Given the description of an element on the screen output the (x, y) to click on. 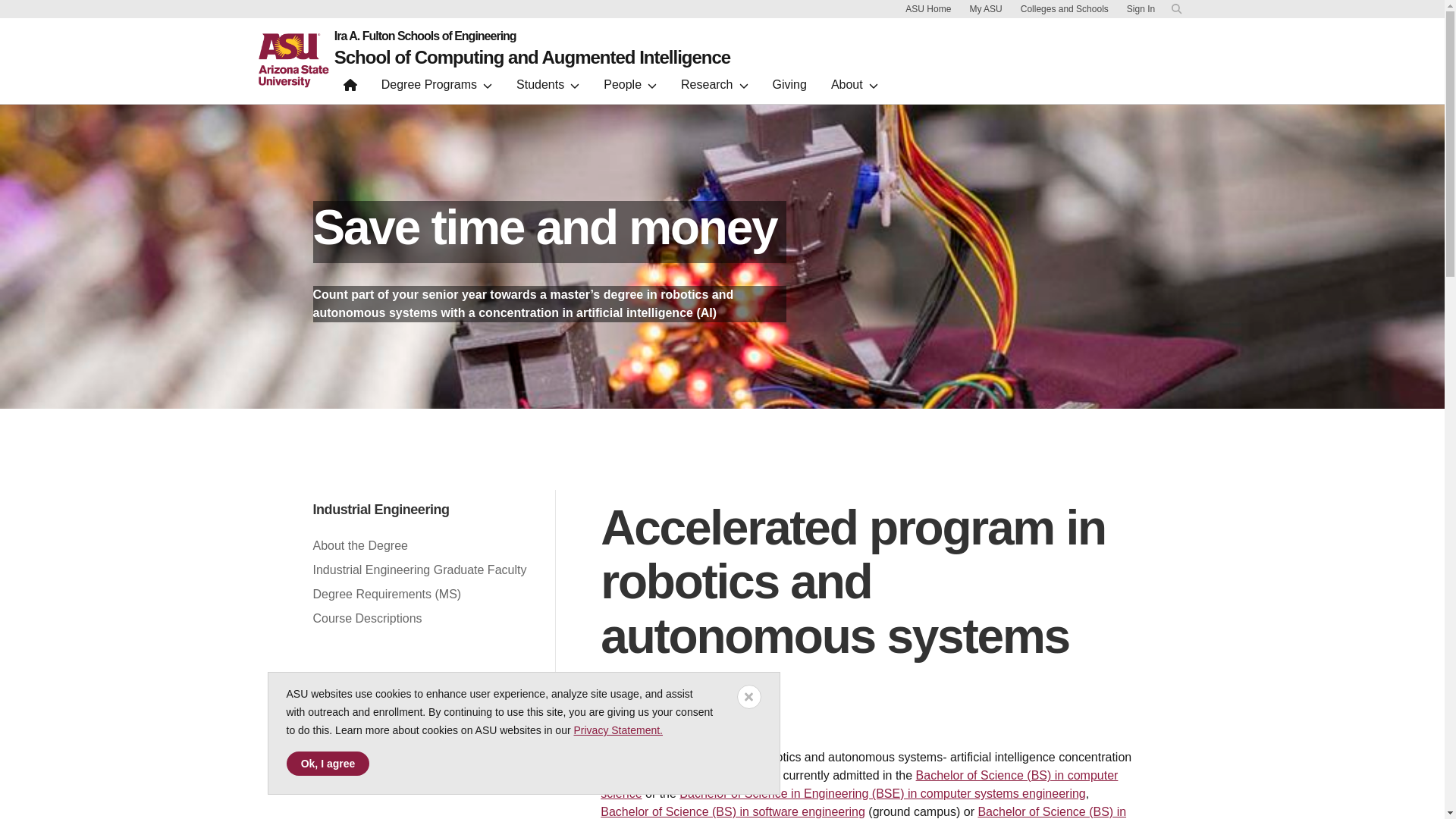
Ira A. Fulton Schools of Engineering (532, 36)
Students (547, 87)
Degree Programs (436, 87)
Ira A. Fulton Schools of Engineering home page (532, 36)
People (629, 87)
ASU Home (927, 8)
Skip to main content (905, 4)
Giving (788, 87)
My ASU (984, 8)
Students (547, 87)
ASU home page (293, 60)
About (854, 87)
Degree Programs (436, 87)
School of Computing and Augmented Intelligence home page (532, 57)
